Given the description of an element on the screen output the (x, y) to click on. 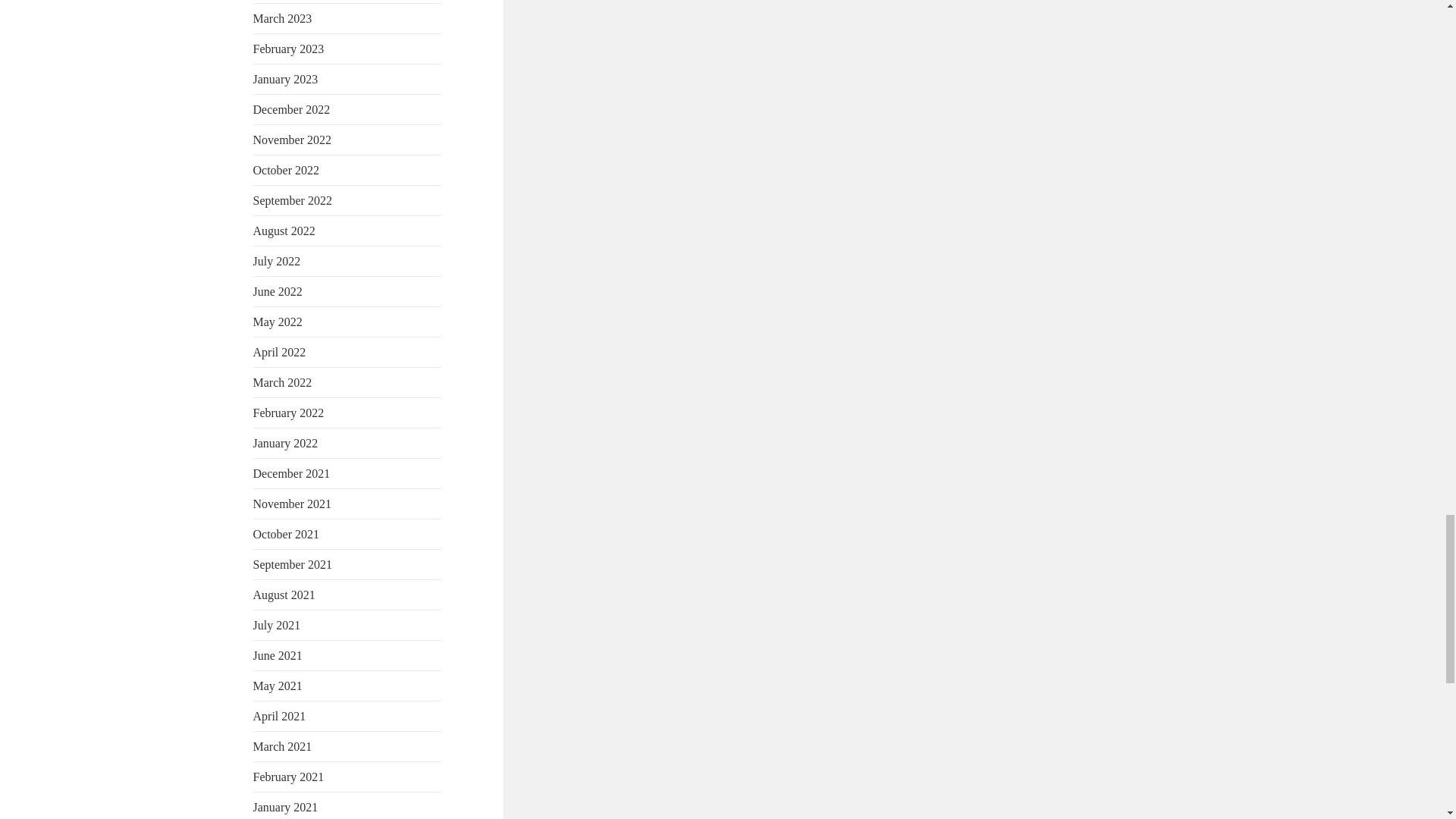
March 2023 (283, 18)
